Given the description of an element on the screen output the (x, y) to click on. 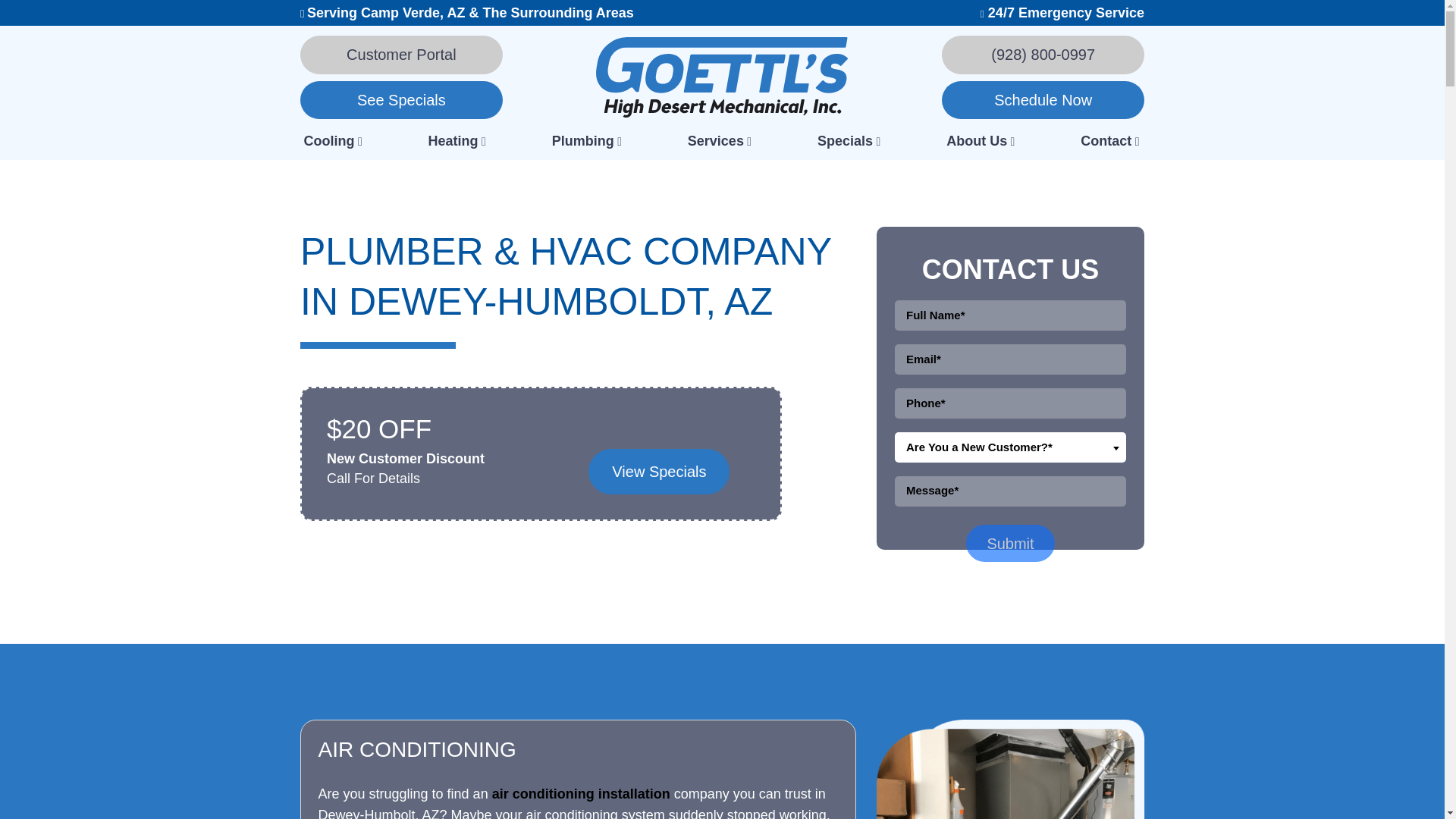
Goettl's High Desert Mechanical (721, 76)
